Given the description of an element on the screen output the (x, y) to click on. 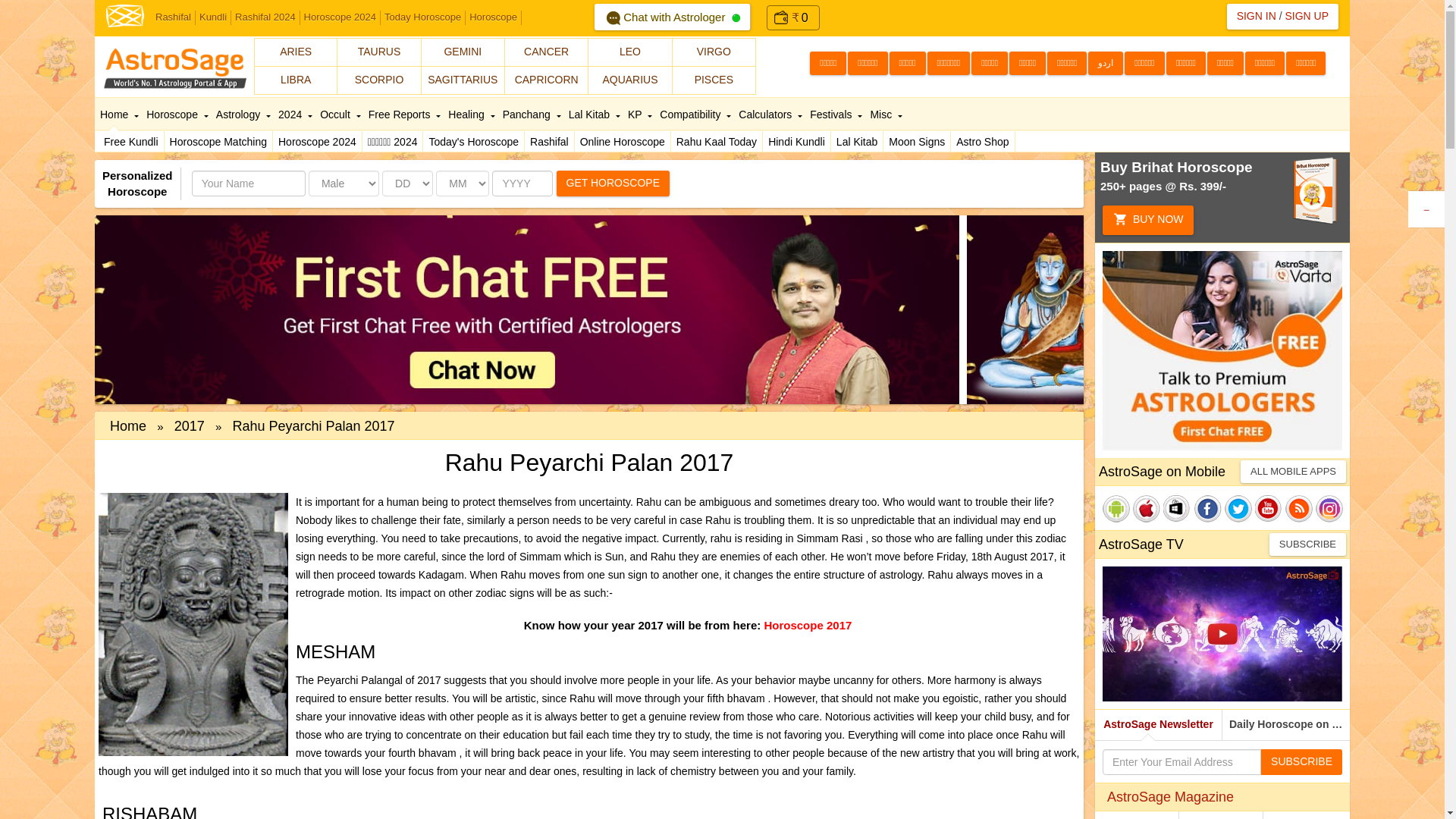
Rashifal (173, 17)
www.AstroSage.com: Vedic Astrology (125, 14)
Today Horoscope (422, 17)
Odia (1225, 63)
Marathi (989, 63)
Malayalam (1066, 63)
Tamil (827, 63)
TAURUS (378, 52)
AQUARIUS (629, 80)
Horoscope (493, 17)
